Given the description of an element on the screen output the (x, y) to click on. 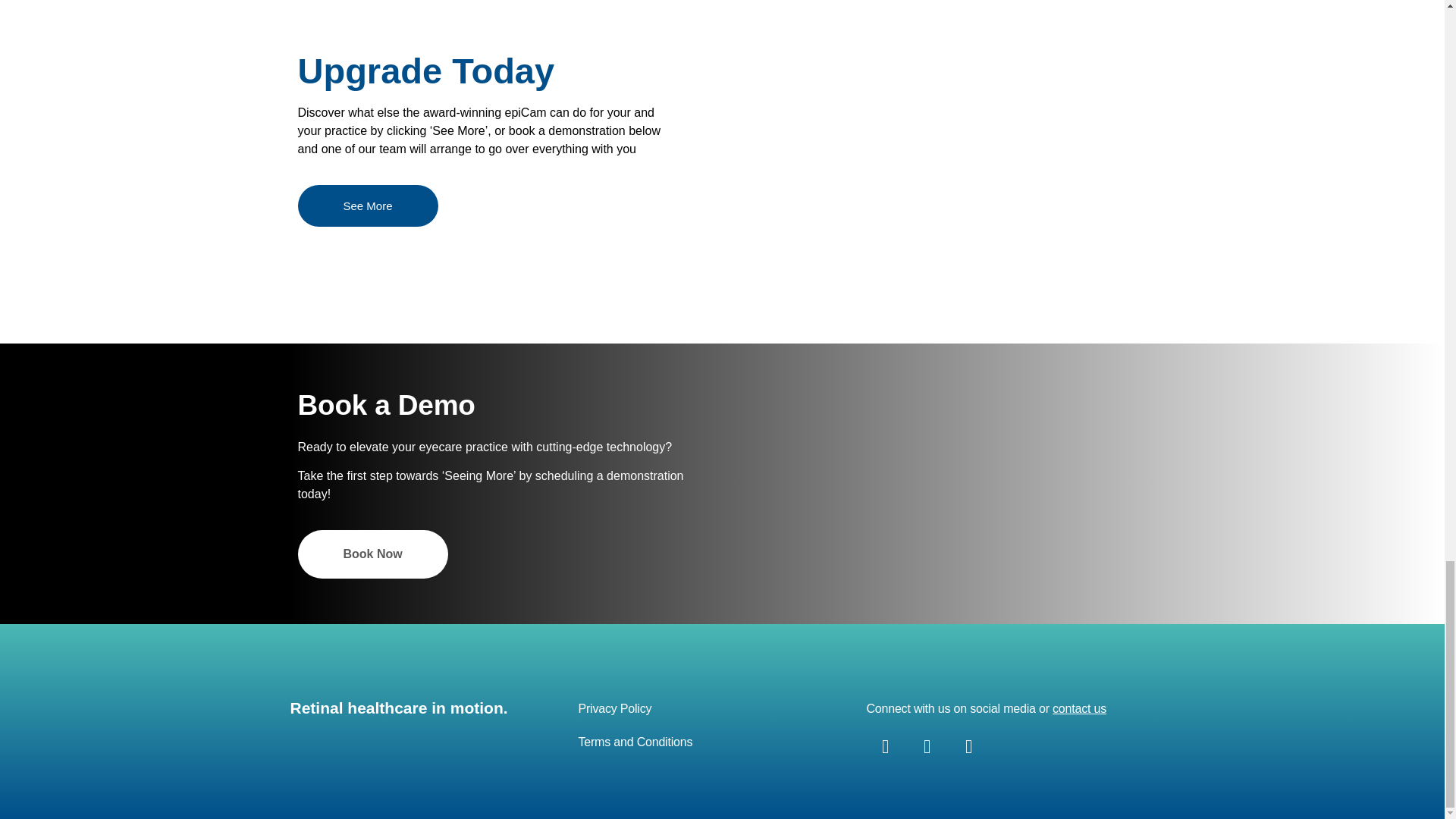
Terms and Conditions (635, 741)
Book Now (371, 553)
contact us (1079, 707)
Privacy Policy (614, 707)
See More (367, 205)
